Given the description of an element on the screen output the (x, y) to click on. 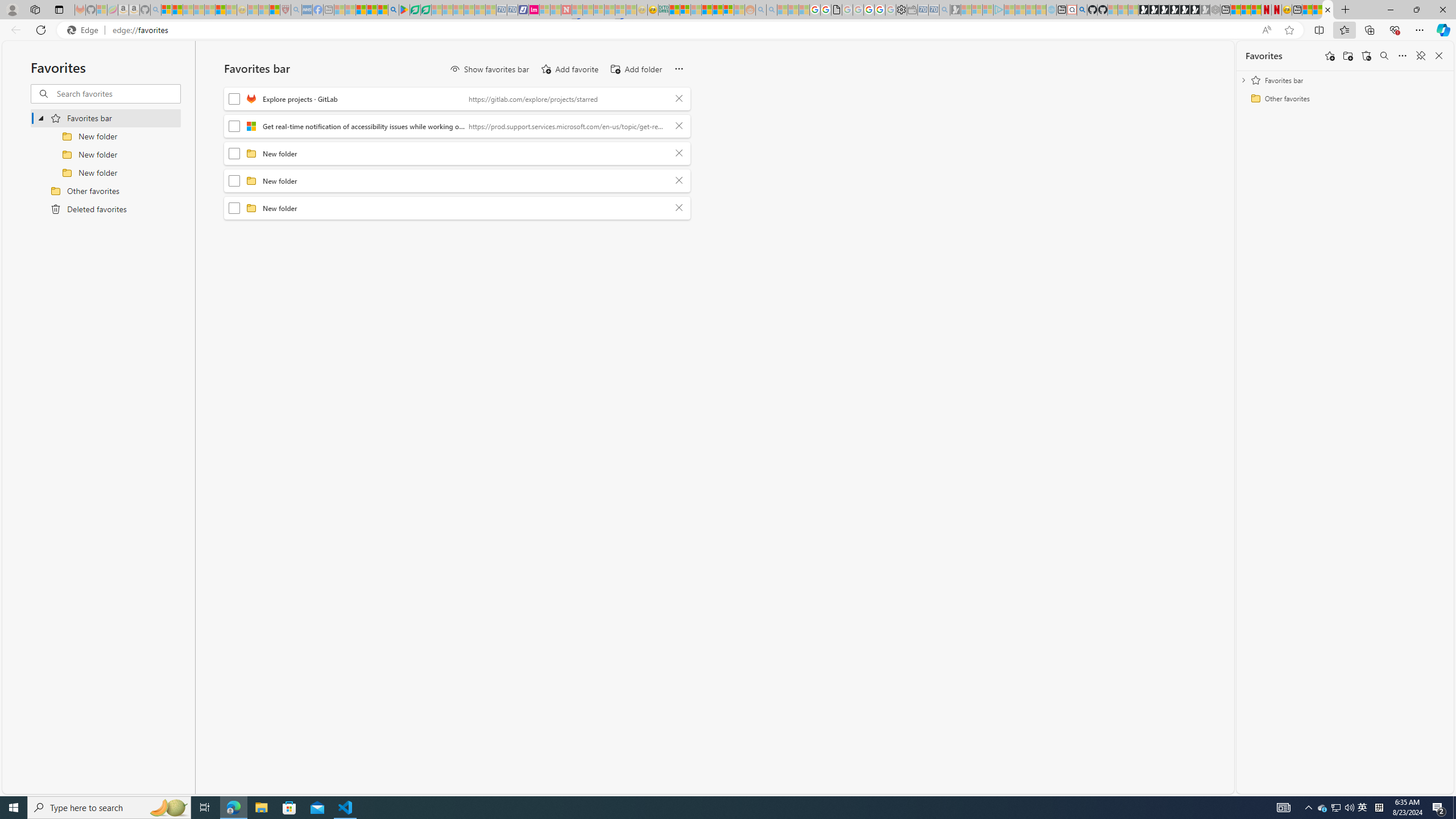
Add this page to favorites (1330, 55)
Play Cave FRVR in your browser | Games from Microsoft Start (1163, 9)
New tab - Sleeping (328, 9)
Delete (679, 207)
